Given the description of an element on the screen output the (x, y) to click on. 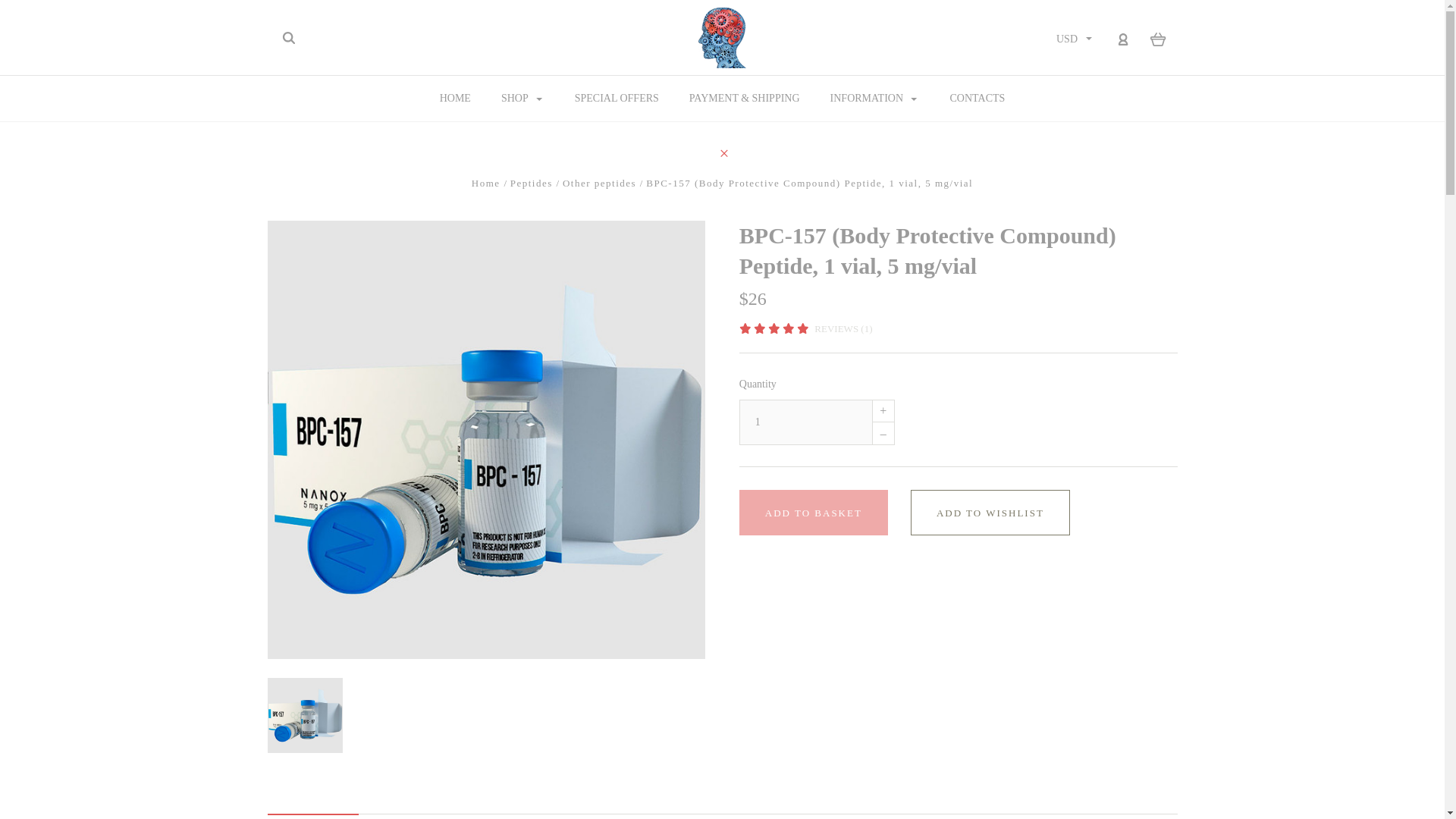
HOME (455, 99)
1 (805, 422)
SHOP (522, 99)
